Given the description of an element on the screen output the (x, y) to click on. 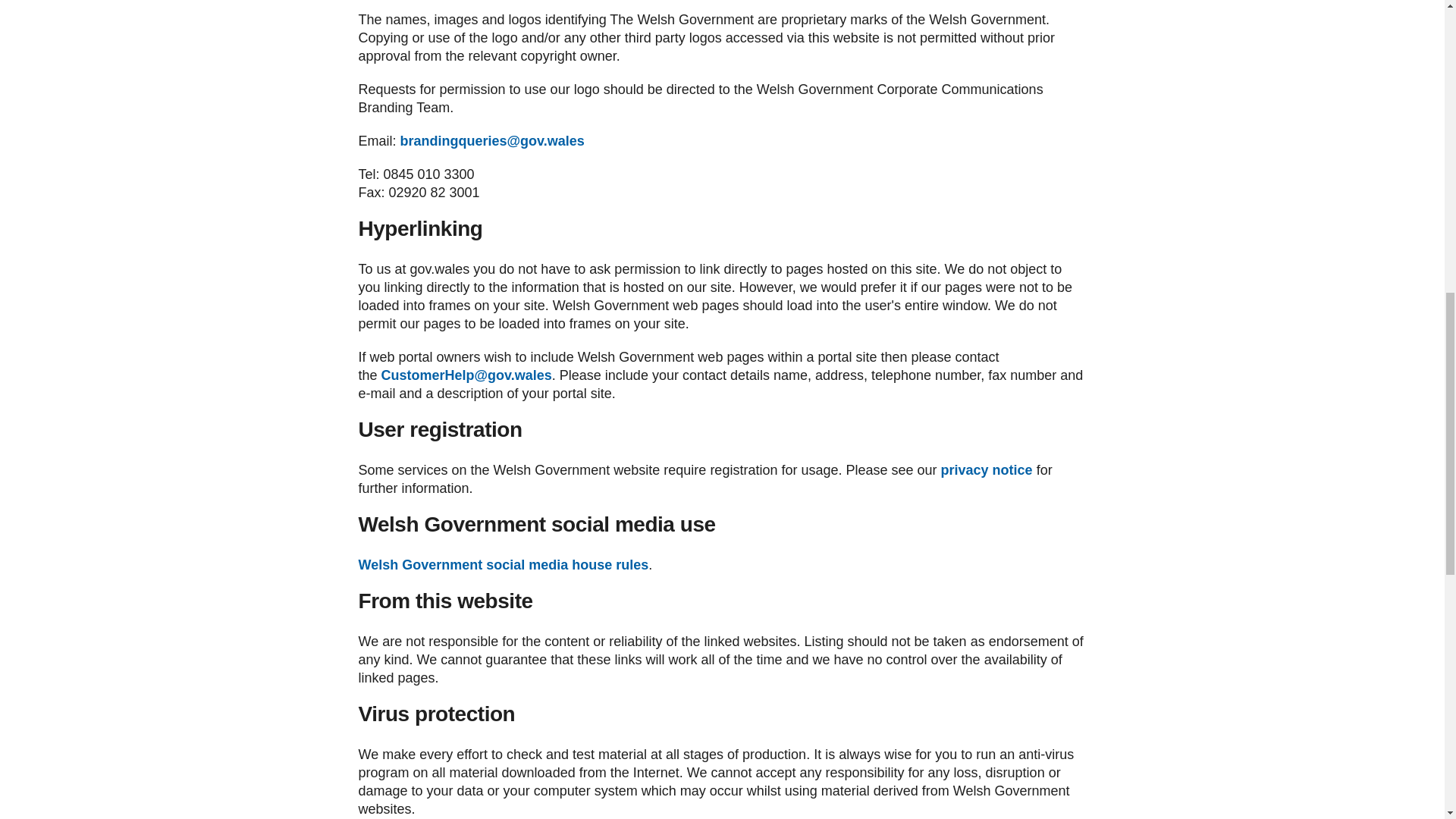
Welsh Government social media house rules (502, 564)
privacy notice (986, 469)
